Given the description of an element on the screen output the (x, y) to click on. 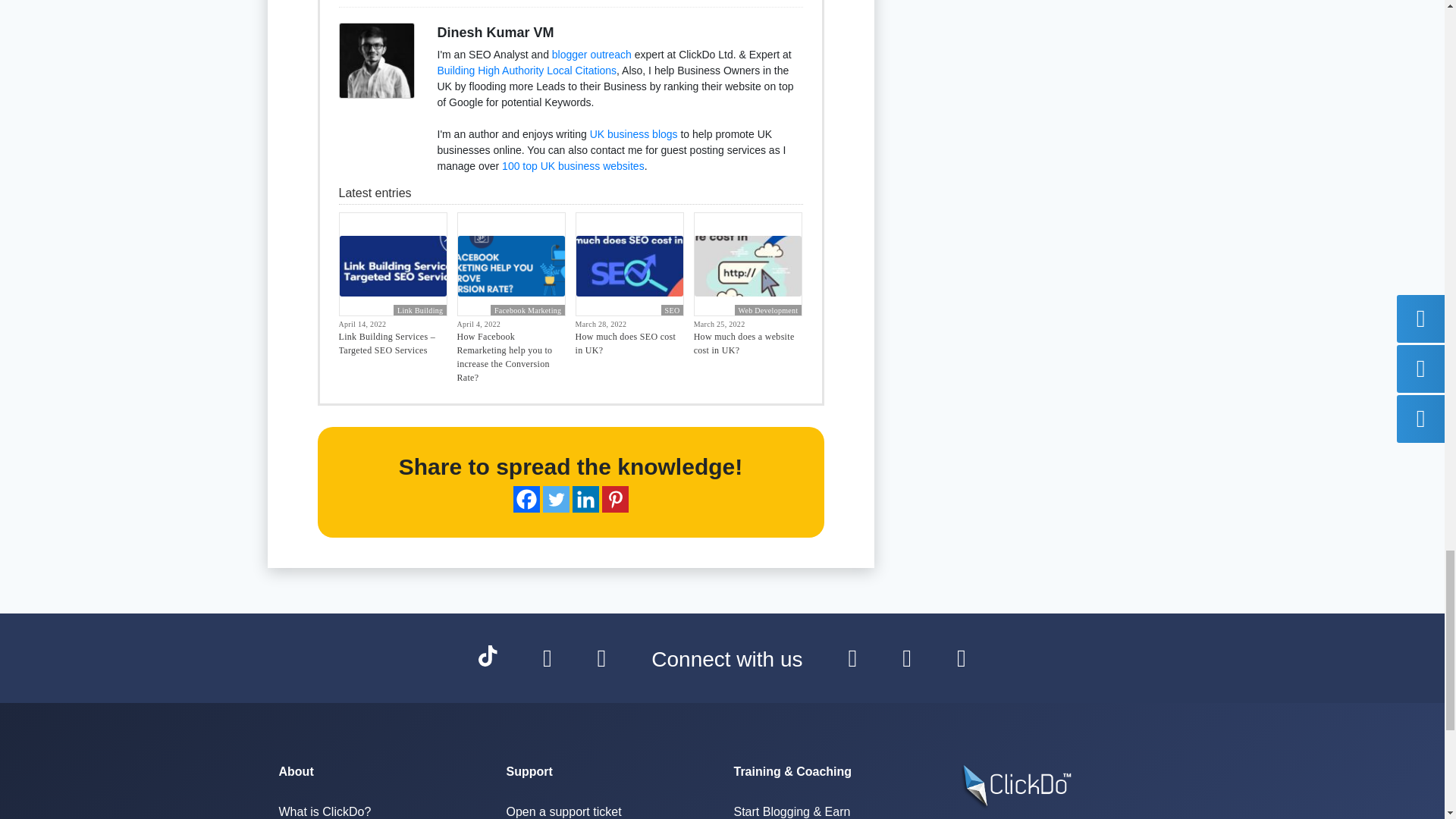
Linkedin (585, 499)
What is Clickdo (325, 811)
Facebook (525, 499)
Twitter (556, 499)
Pinterest (615, 499)
